Given the description of an element on the screen output the (x, y) to click on. 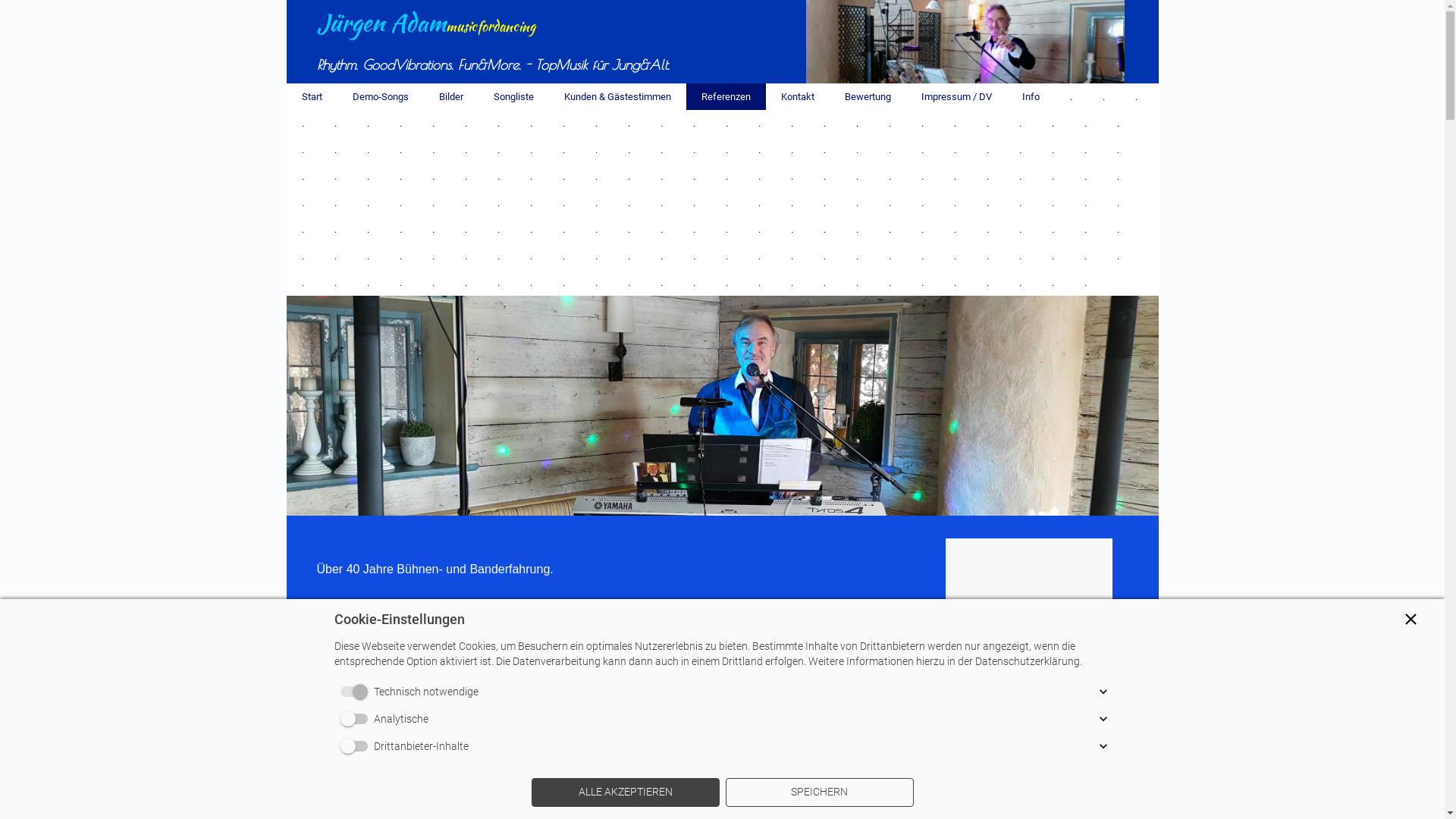
. Element type: text (302, 176)
. Element type: text (824, 149)
. Element type: text (725, 176)
. Element type: text (433, 229)
. Element type: text (530, 122)
. Element type: text (464, 149)
. Element type: text (660, 149)
. Element type: text (367, 255)
. Element type: text (1085, 202)
. Element type: text (986, 282)
. Element type: text (628, 149)
. Element type: text (889, 255)
. Element type: text (334, 122)
. Element type: text (563, 122)
Demo-Songs Element type: text (379, 96)
. Element type: text (954, 255)
. Element type: text (759, 282)
. Element type: text (725, 122)
. Element type: text (889, 122)
. Element type: text (498, 282)
. Element type: text (367, 202)
. Element type: text (595, 122)
. Element type: text (1051, 255)
. Element type: text (302, 282)
. Element type: text (986, 122)
. Element type: text (1020, 149)
. Element type: text (595, 282)
ALLE AKZEPTIEREN Element type: text (624, 792)
. Element type: text (628, 202)
. Element type: text (986, 176)
. Element type: text (563, 255)
. Element type: text (628, 255)
. Element type: text (367, 229)
. Element type: text (399, 149)
. Element type: text (367, 122)
. Element type: text (399, 176)
. Element type: text (954, 282)
. Element type: text (725, 282)
. Element type: text (334, 202)
. Element type: text (824, 255)
. Element type: text (791, 122)
. Element type: text (530, 229)
. Element type: text (1085, 282)
. Element type: text (1085, 122)
. Element type: text (1051, 122)
. Element type: text (530, 255)
. Element type: text (725, 229)
. Element type: text (1051, 282)
. Element type: text (1020, 202)
. Element type: text (954, 229)
. Element type: text (954, 122)
. Element type: text (498, 149)
. Element type: text (464, 202)
. Element type: text (856, 122)
. Element type: text (530, 202)
. Element type: text (498, 202)
. Element type: text (563, 282)
. Element type: text (628, 229)
. Element type: text (334, 176)
. Element type: text (433, 255)
. Element type: text (889, 282)
. Element type: text (921, 176)
. Element type: text (464, 255)
. Element type: text (1085, 255)
. Element type: text (725, 202)
. Element type: text (889, 202)
Info Element type: text (1030, 96)
. Element type: text (595, 255)
. Element type: text (563, 229)
. Element type: text (725, 255)
. Element type: text (367, 176)
. Element type: text (1117, 202)
. Element type: text (1020, 282)
. Element type: text (921, 202)
. Element type: text (302, 229)
. Element type: text (1070, 96)
. Element type: text (464, 176)
. Element type: text (693, 282)
. Element type: text (1117, 149)
. Element type: text (530, 149)
. Element type: text (1051, 149)
Bilder Element type: text (450, 96)
. Element type: text (1051, 202)
. Element type: text (302, 149)
. Element type: text (660, 122)
. Element type: text (759, 202)
. Element type: text (464, 282)
. Element type: text (302, 255)
. Element type: text (759, 176)
. Element type: text (660, 202)
. Element type: text (399, 282)
. Element type: text (1051, 229)
. Element type: text (824, 176)
. Element type: text (954, 176)
. Element type: text (986, 202)
. Element type: text (660, 229)
. Element type: text (334, 229)
. Element type: text (1085, 149)
. Element type: text (921, 282)
. Element type: text (1085, 229)
Songliste Element type: text (512, 96)
. Element type: text (824, 229)
. Element type: text (791, 229)
. Element type: text (302, 202)
. Element type: text (856, 202)
. Element type: text (1085, 176)
. Element type: text (595, 229)
. Element type: text (595, 176)
. Element type: text (856, 229)
. Element type: text (433, 176)
. Element type: text (498, 122)
. Element type: text (921, 255)
. Element type: text (595, 202)
. Element type: text (986, 255)
. Element type: text (367, 282)
Start Element type: text (311, 96)
. Element type: text (1020, 229)
. Element type: text (693, 149)
. Element type: text (824, 122)
. Element type: text (1135, 96)
. Element type: text (530, 176)
. Element type: text (954, 202)
. Element type: text (563, 149)
. Element type: text (856, 282)
. Element type: text (530, 282)
Bewertung Element type: text (867, 96)
. Element type: text (1117, 176)
. Element type: text (433, 149)
. Element type: text (693, 176)
. Element type: text (399, 229)
. Element type: text (628, 122)
. Element type: text (856, 176)
. Element type: text (660, 282)
. Element type: text (563, 202)
. Element type: text (563, 176)
. Element type: text (986, 149)
. Element type: text (399, 122)
. Element type: text (725, 149)
. Element type: text (660, 176)
. Element type: text (334, 255)
. Element type: text (433, 282)
. Element type: text (791, 176)
. Element type: text (889, 149)
. Element type: text (921, 229)
. Element type: text (367, 149)
SPEICHERN Element type: text (818, 792)
. Element type: text (1117, 122)
. Element type: text (1103, 96)
. Element type: text (334, 149)
. Element type: text (889, 229)
. Element type: text (759, 255)
. Element type: text (660, 255)
. Element type: text (628, 282)
. Element type: text (464, 122)
. Element type: text (433, 122)
. Element type: text (628, 176)
. Element type: text (693, 202)
. Element type: text (1020, 176)
. Element type: text (856, 149)
. Element type: text (759, 229)
Kontakt Element type: text (797, 96)
. Element type: text (399, 202)
. Element type: text (986, 229)
. Element type: text (498, 176)
Impressum / DV Element type: text (955, 96)
. Element type: text (759, 122)
. Element type: text (464, 229)
. Element type: text (791, 149)
. Element type: text (693, 255)
. Element type: text (889, 176)
. Element type: text (1051, 176)
. Element type: text (498, 255)
. Element type: text (693, 229)
. Element type: text (954, 149)
. Element type: text (302, 122)
Referenzen Element type: text (725, 96)
. Element type: text (824, 282)
. Element type: text (791, 255)
. Element type: text (791, 282)
. Element type: text (595, 149)
. Element type: text (693, 122)
. Element type: text (334, 282)
. Element type: text (1020, 255)
. Element type: text (856, 255)
. Element type: text (1117, 229)
. Element type: text (791, 202)
. Element type: text (498, 229)
. Element type: text (1117, 255)
. Element type: text (824, 202)
. Element type: text (1020, 122)
. Element type: text (399, 255)
. Element type: text (433, 202)
. Element type: text (921, 149)
. Element type: text (759, 149)
. Element type: text (921, 122)
